Given the description of an element on the screen output the (x, y) to click on. 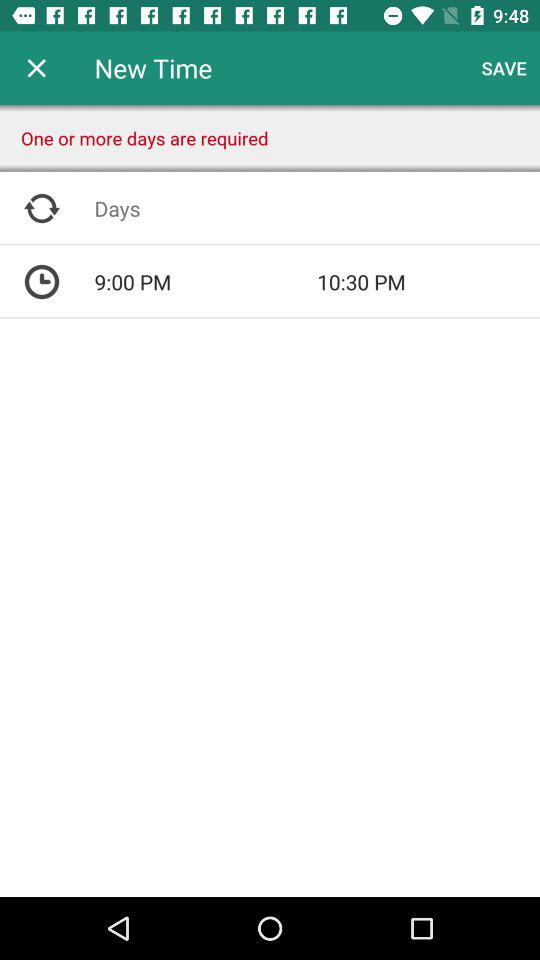
update days (317, 208)
